Given the description of an element on the screen output the (x, y) to click on. 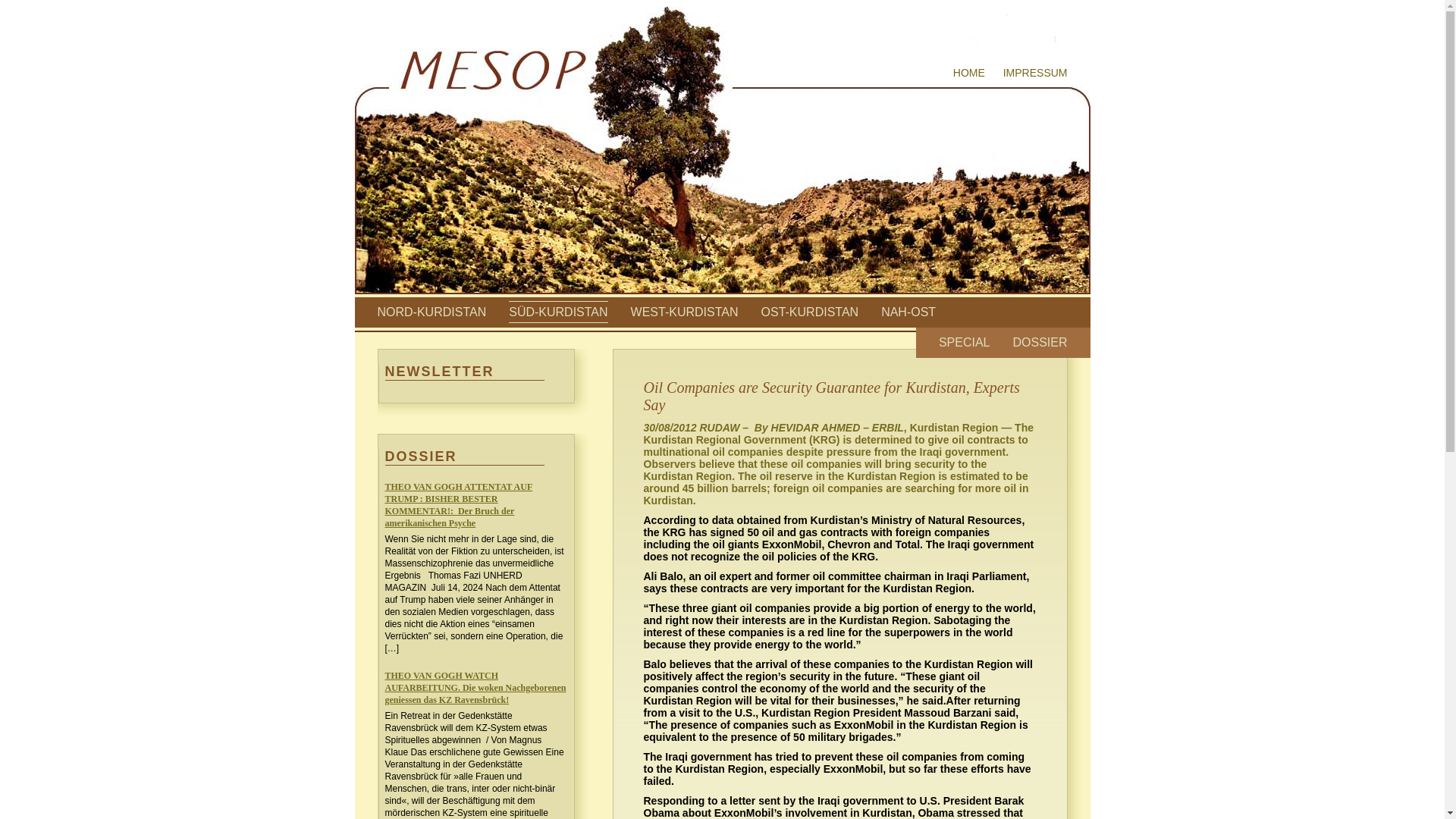
DOSSIER (1039, 341)
WEST-KURDISTAN (684, 311)
OST-KURDISTAN (810, 311)
SPECIAL (964, 341)
NORD-KURDISTAN (431, 311)
HOME (969, 72)
IMPRESSUM (1035, 72)
NAH-OST (908, 311)
